Given the description of an element on the screen output the (x, y) to click on. 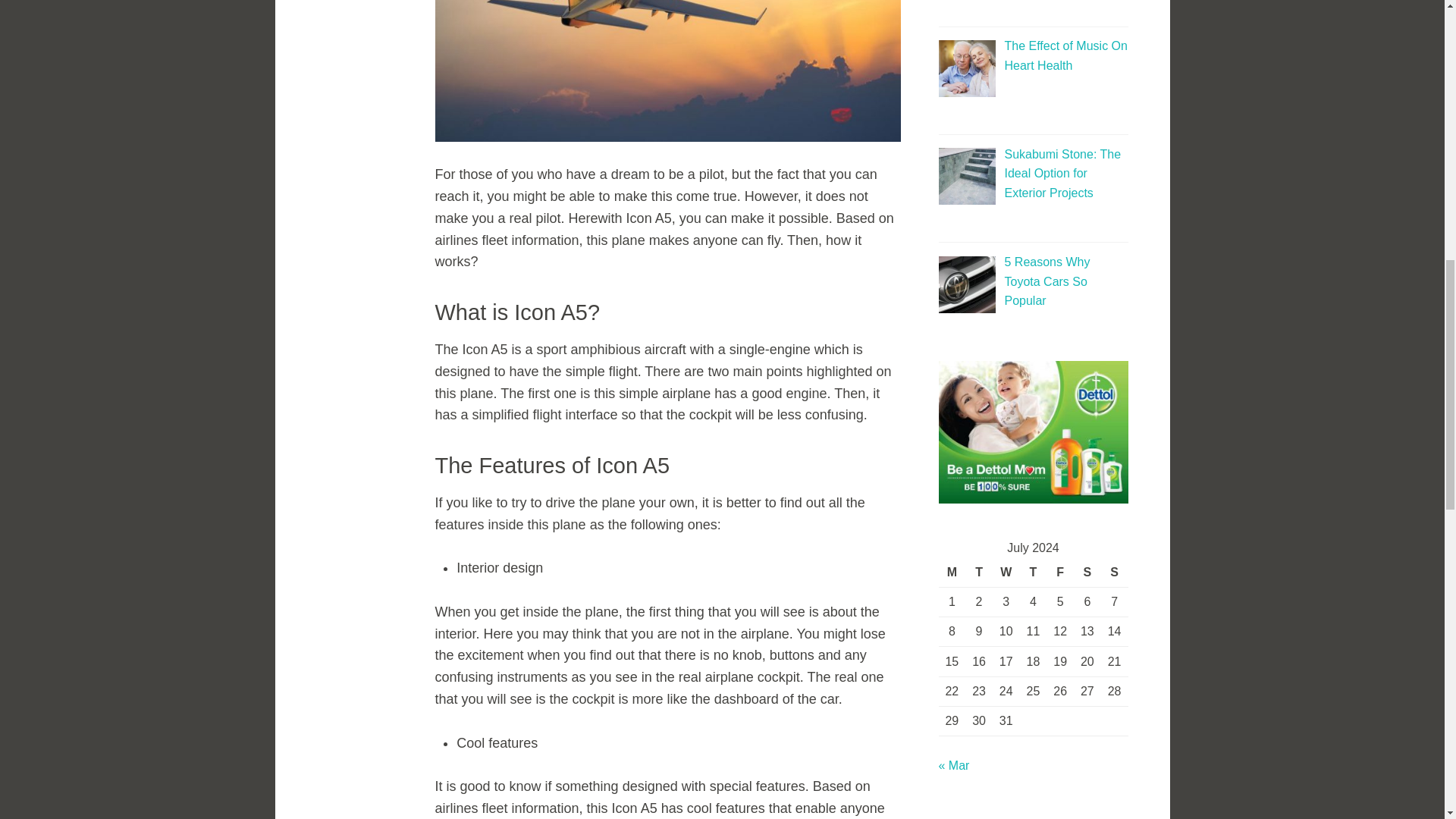
Tuesday (978, 571)
Friday (1060, 571)
Monday (952, 571)
5 Reasons Why Toyota Cars So Popular (1046, 281)
The Effect of Music On Heart Health (1065, 55)
Saturday (1087, 571)
Sukabumi Stone: The Ideal Option for Exterior Projects (1062, 173)
Sunday (1114, 571)
Thursday (1033, 571)
Wednesday (1006, 571)
